Given the description of an element on the screen output the (x, y) to click on. 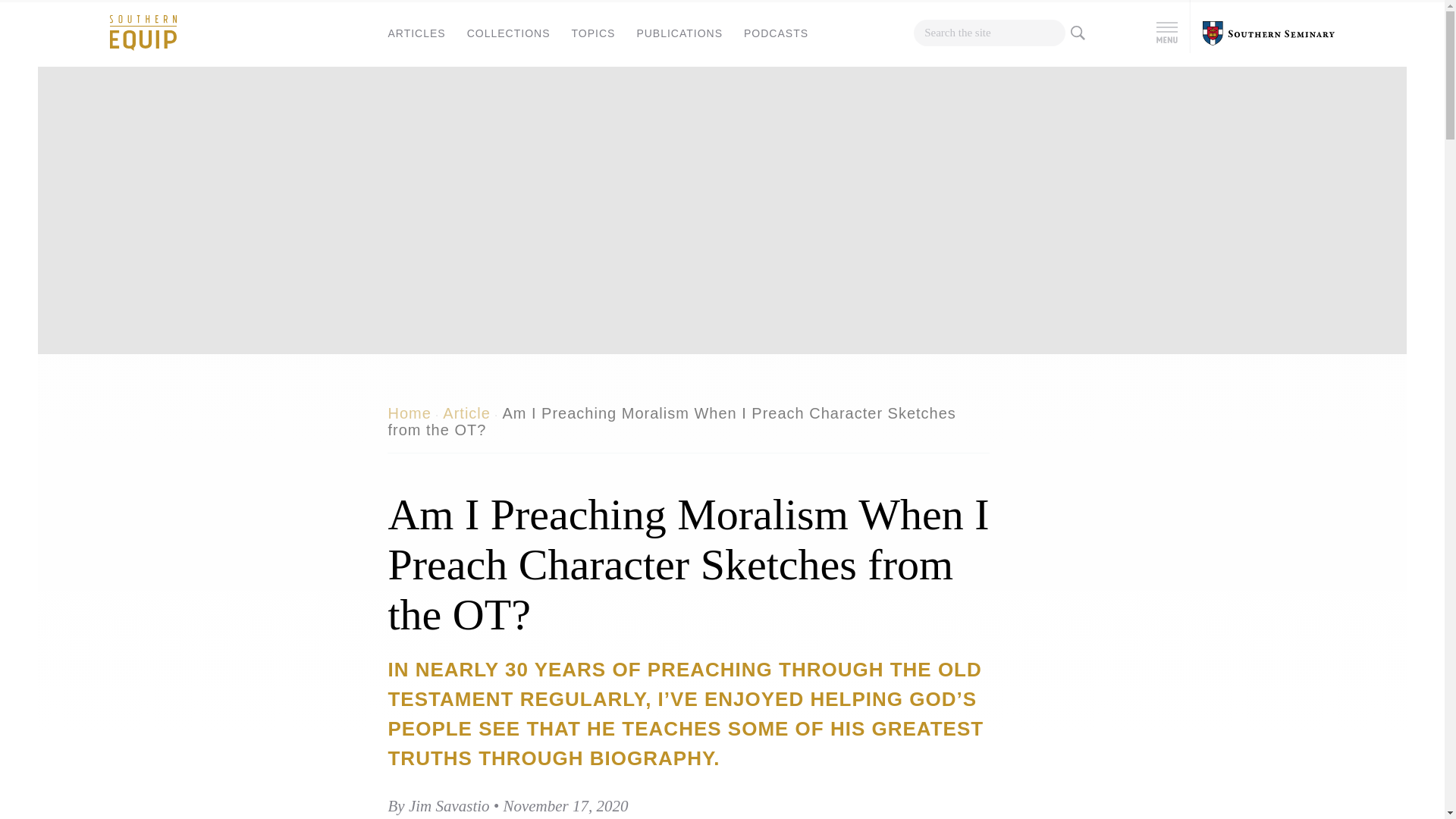
Alumni (134, 195)
Menu (1166, 32)
VISIT THE CAMPUS (338, 159)
Give (125, 219)
ARTICLES (416, 33)
PUBLICATIONS (679, 33)
Search (925, 53)
Southern Equip (142, 32)
SHARE (308, 396)
